Given the description of an element on the screen output the (x, y) to click on. 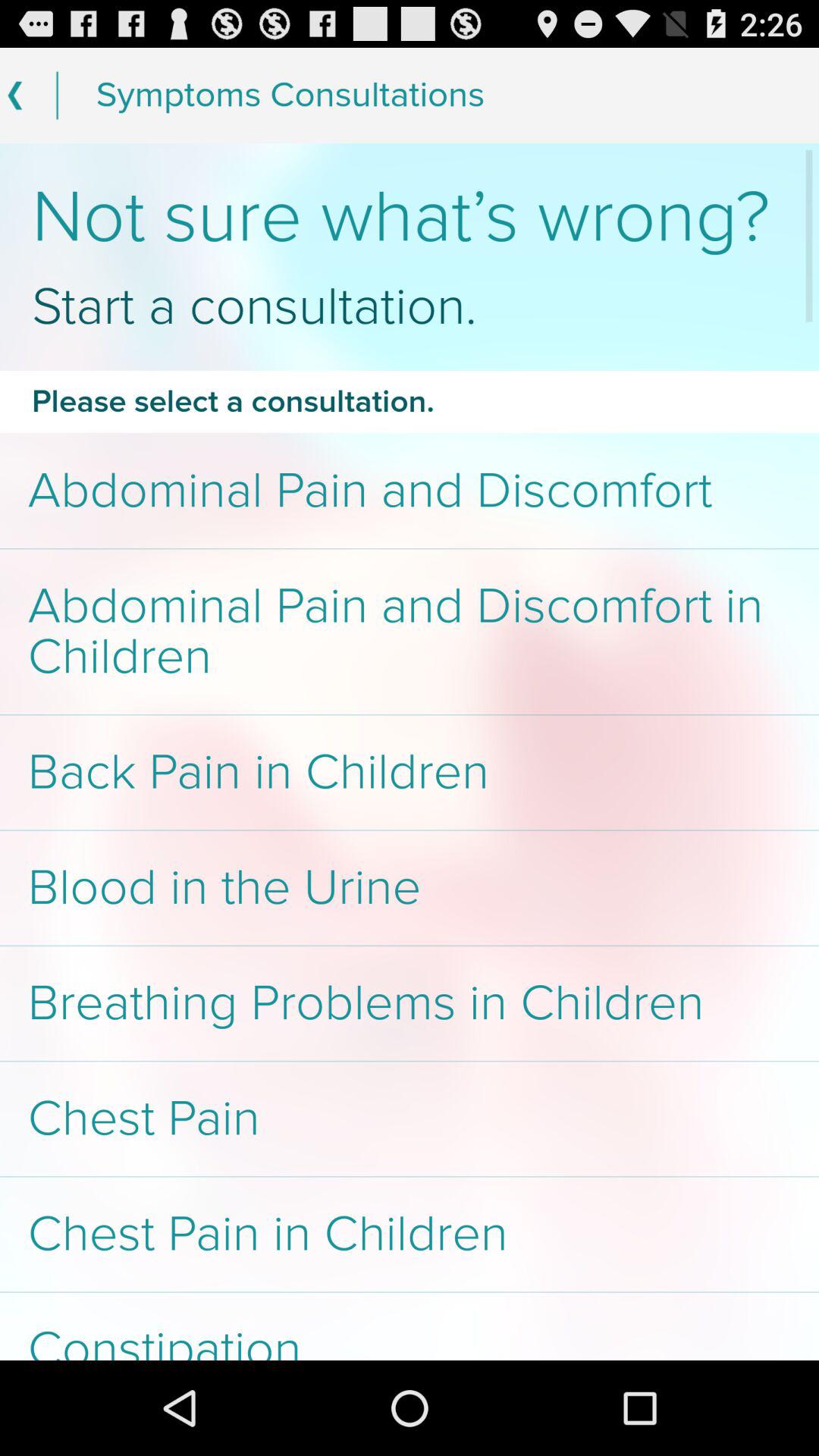
press the not sure what app (409, 217)
